Given the description of an element on the screen output the (x, y) to click on. 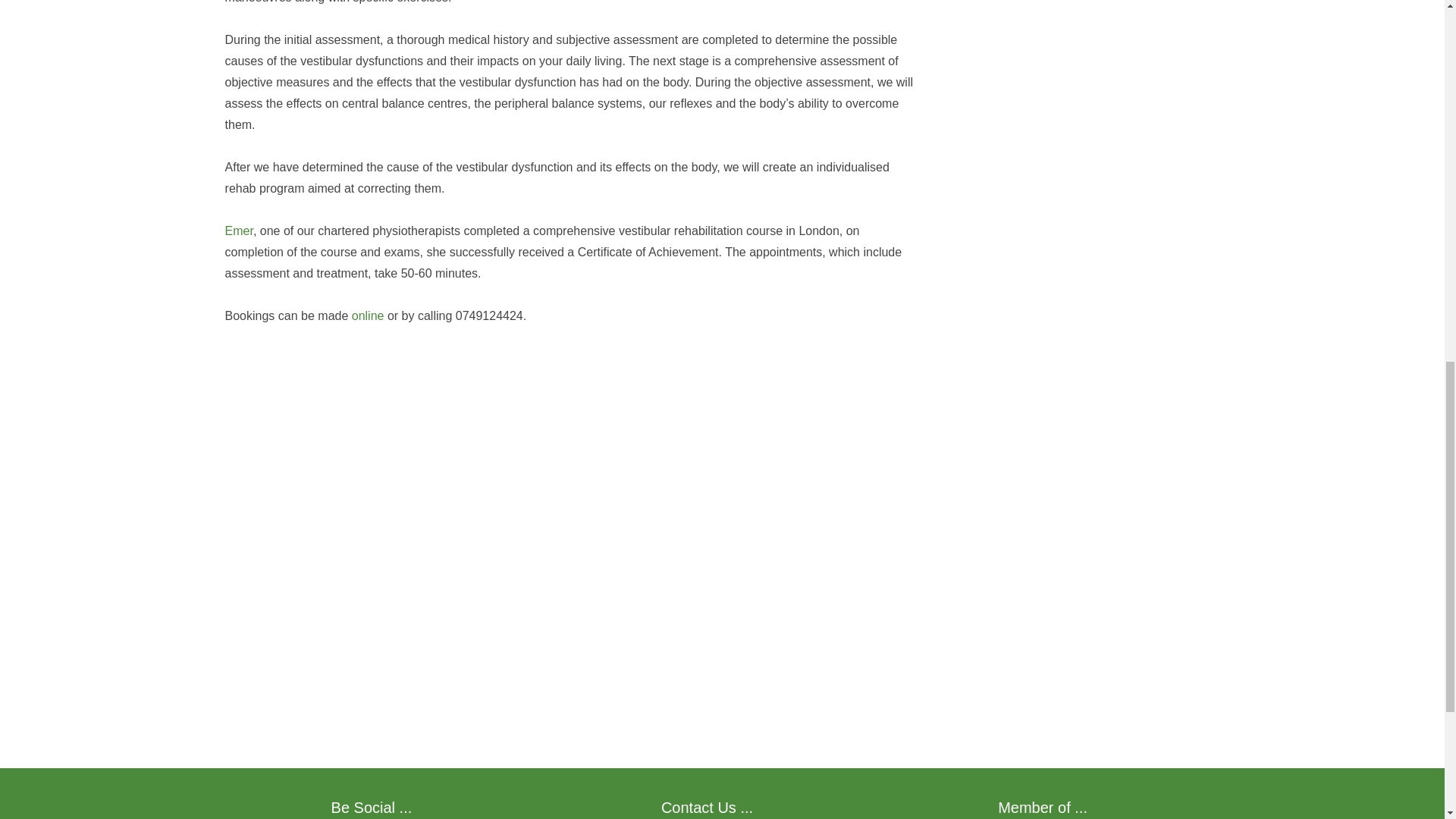
Emer (239, 230)
online (368, 315)
